Given the description of an element on the screen output the (x, y) to click on. 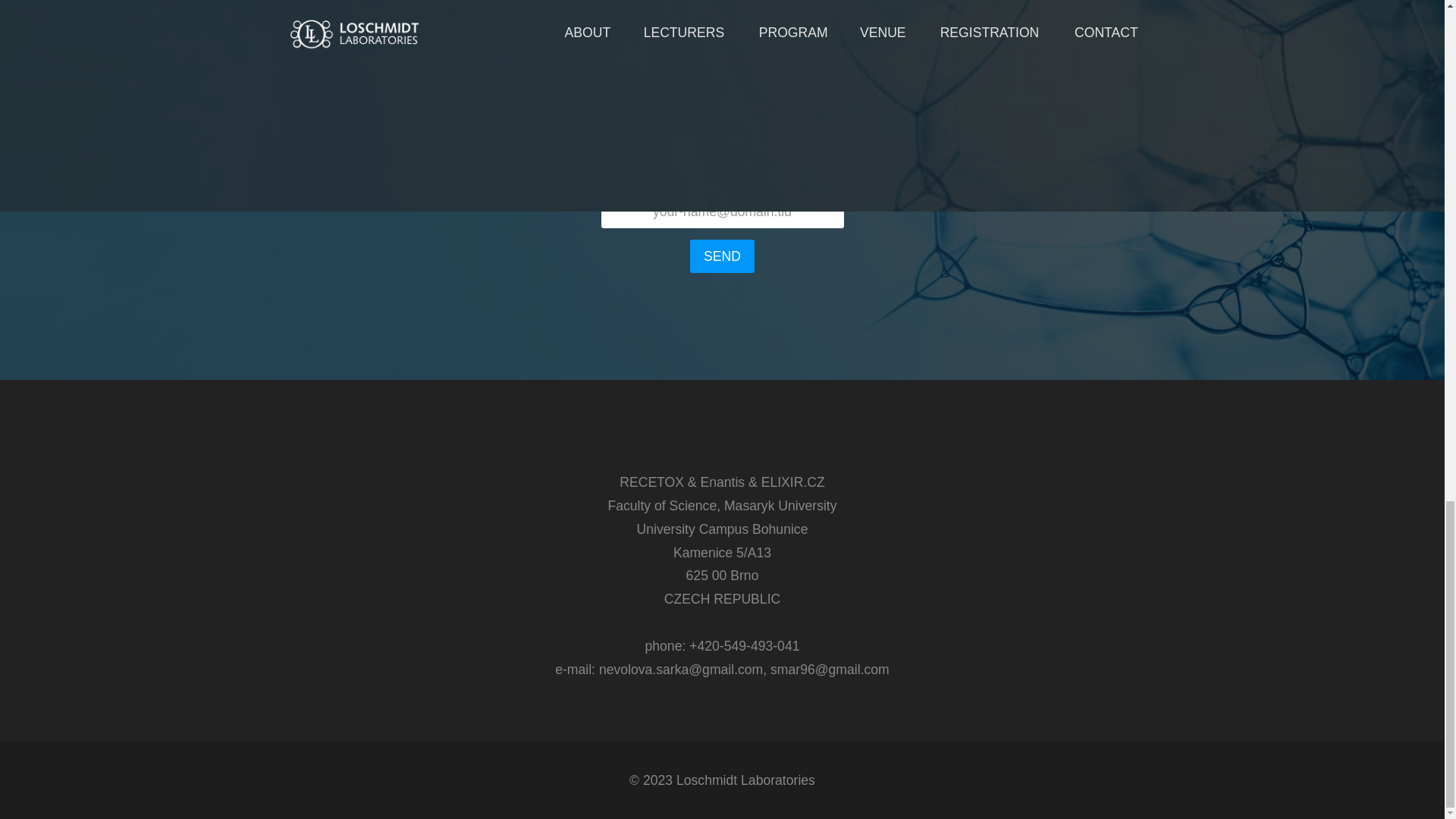
SEND (722, 255)
